Given the description of an element on the screen output the (x, y) to click on. 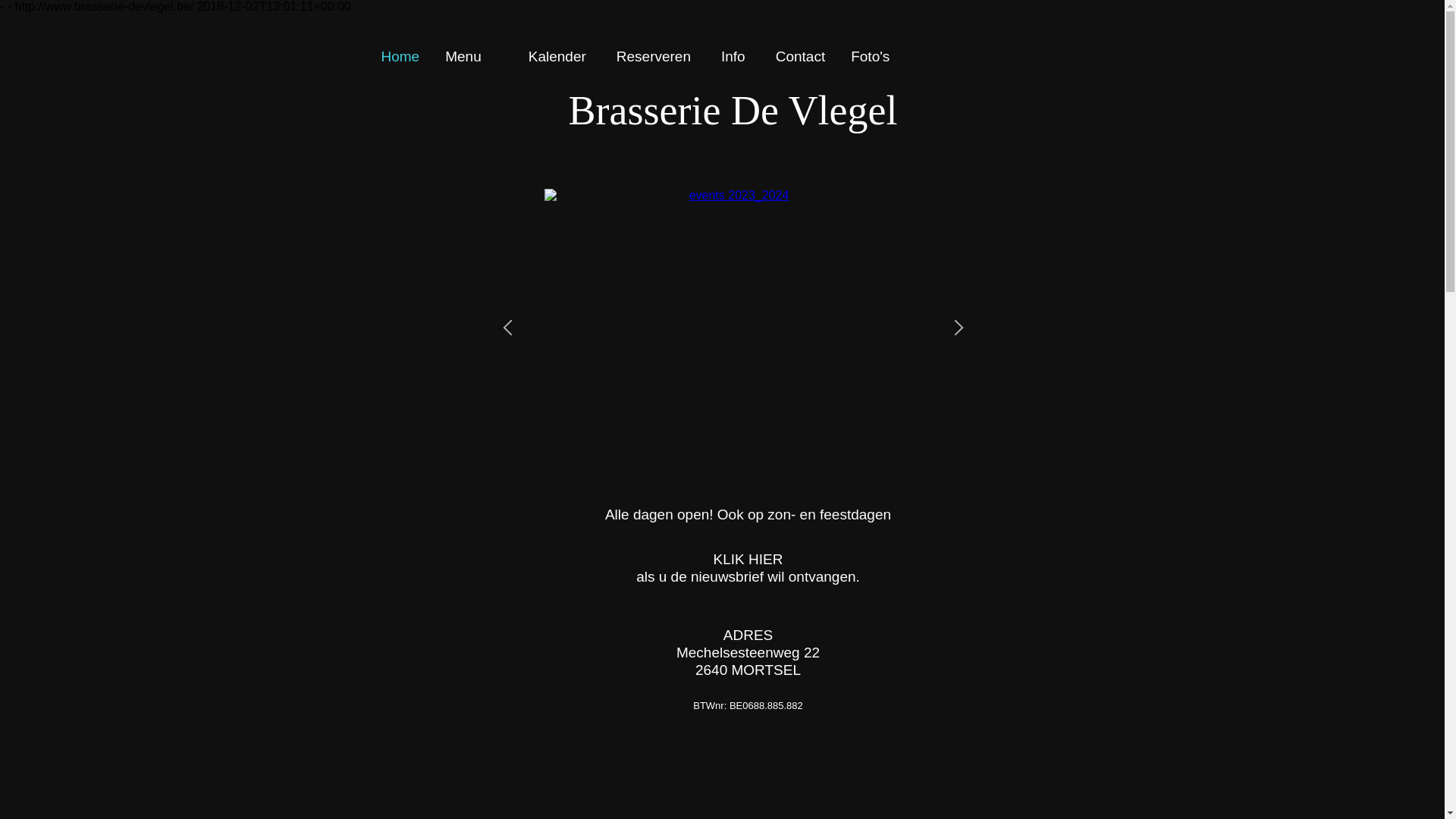
Info Element type: text (733, 56)
events 2023_2024 Element type: hover (732, 328)
Home Element type: text (399, 56)
KLIK HIER
als u de nieuwsbrief wil ontvangen. Element type: text (747, 567)
Contact Element type: text (800, 56)
Kalender Element type: text (557, 56)
Reserveren Element type: text (653, 56)
Menu Element type: text (473, 56)
IMG_5844 Element type: hover (246, 328)
Foto's Element type: text (880, 56)
